Given the description of an element on the screen output the (x, y) to click on. 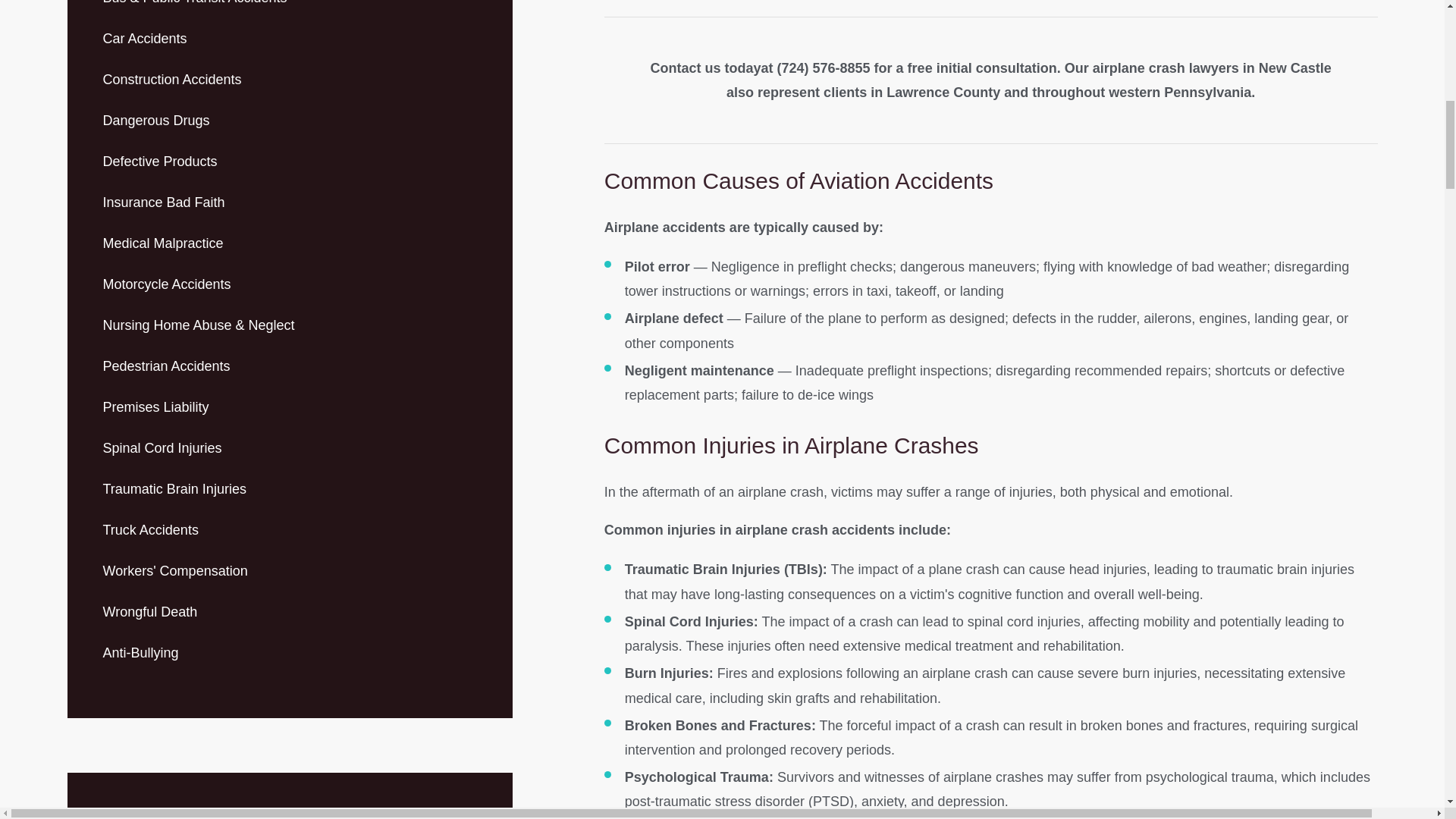
Open child menu of Premises Liability (470, 407)
Open child menu of Medical Malpractice (470, 243)
Open child menu of Car Accidents (470, 38)
